Given the description of an element on the screen output the (x, y) to click on. 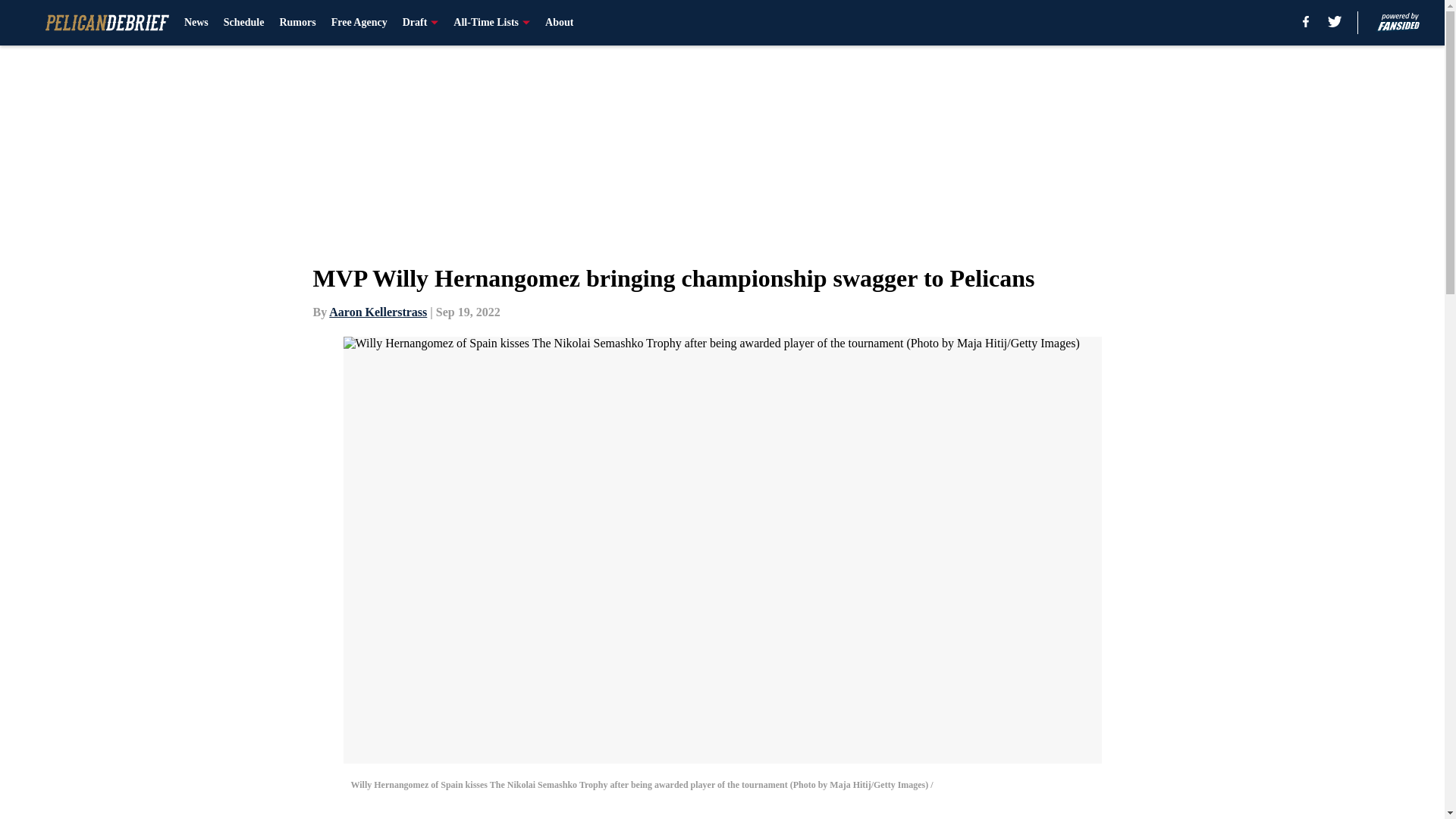
About (558, 22)
News (196, 22)
Draft (421, 22)
Rumors (297, 22)
Free Agency (359, 22)
All-Time Lists (490, 22)
Aaron Kellerstrass (377, 311)
Schedule (244, 22)
